Given the description of an element on the screen output the (x, y) to click on. 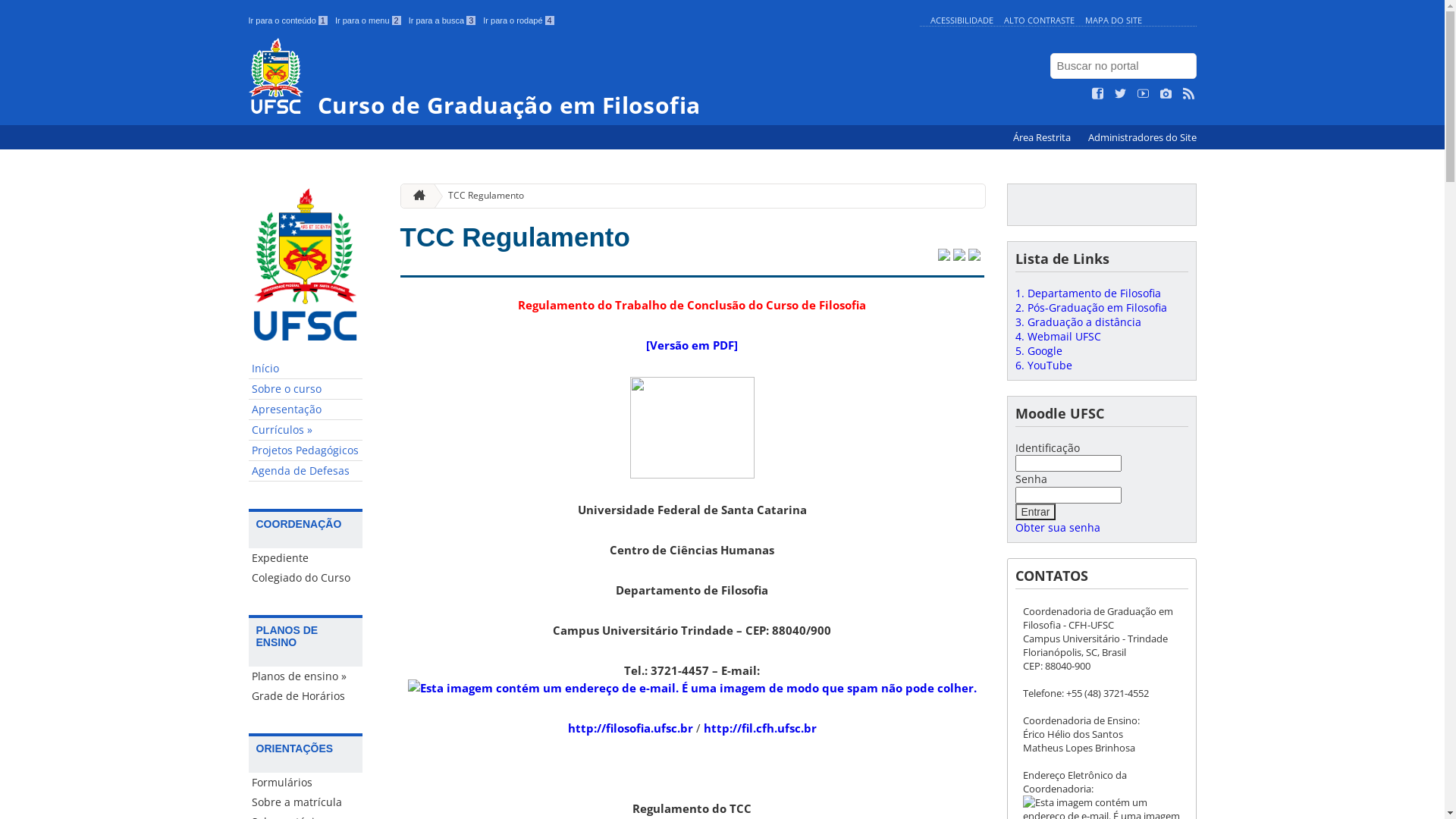
Expediente Element type: text (305, 557)
Curta no Facebook Element type: hover (1098, 93)
TCC Regulamento Element type: text (479, 195)
Sobre o curso Element type: text (305, 389)
1. Departamento de Filosofia Element type: text (1087, 292)
ACESSIBILIDADE Element type: text (960, 19)
ALTO CONTRASTE Element type: text (1039, 19)
logo-ufsc Element type: hover (691, 427)
4. Webmail UFSC Element type: text (1057, 336)
Entrar Element type: text (1034, 511)
Ir para o menu 2 Element type: text (368, 20)
Veja no Instagram Element type: hover (1166, 93)
Compartilhar no Twitter Element type: hover (943, 255)
Administradores do Site Element type: text (1141, 137)
TCC Regulamento Element type: text (515, 236)
Compartilhar no Facebook Element type: hover (958, 255)
MAPA DO SITE Element type: text (1112, 19)
Agenda de Defesas Element type: text (305, 471)
http://filosofia.ufsc.br Element type: text (629, 727)
Siga no Twitter Element type: hover (1120, 93)
http://fil.cfh.ufsc.br Element type: text (759, 727)
5. Google Element type: text (1037, 350)
Ir para a busca 3 Element type: text (442, 20)
Obter sua senha Element type: text (1056, 527)
Compartilhar no WhatsApp Element type: hover (973, 255)
Colegiado do Curso Element type: text (305, 577)
6. YouTube Element type: text (1042, 364)
